Given the description of an element on the screen output the (x, y) to click on. 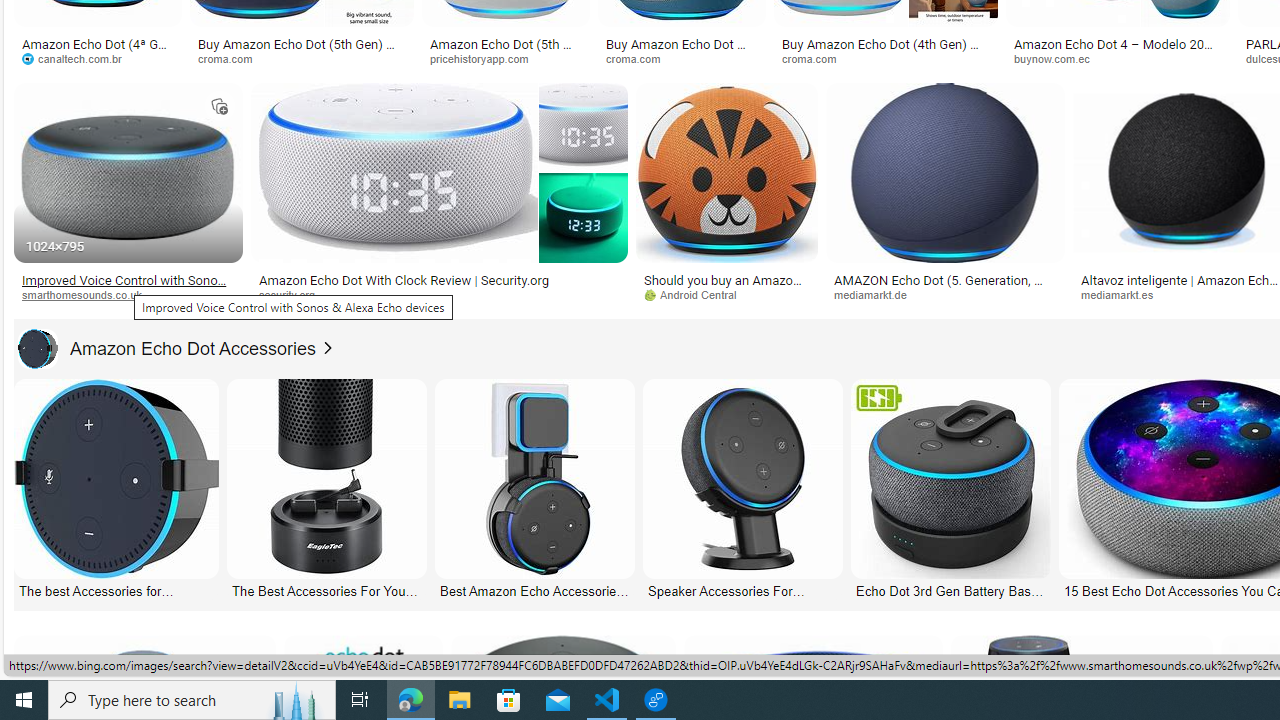
mediamarkt.de (877, 294)
Android Central (726, 295)
Best Amazon Echo Accessories - Tech Advisor (534, 589)
pricehistoryapp.com (506, 58)
pricehistoryapp.com (486, 57)
Amazon Echo Dot Accessories (37, 348)
Amazon Echo Dot Accessories (167, 348)
